Given the description of an element on the screen output the (x, y) to click on. 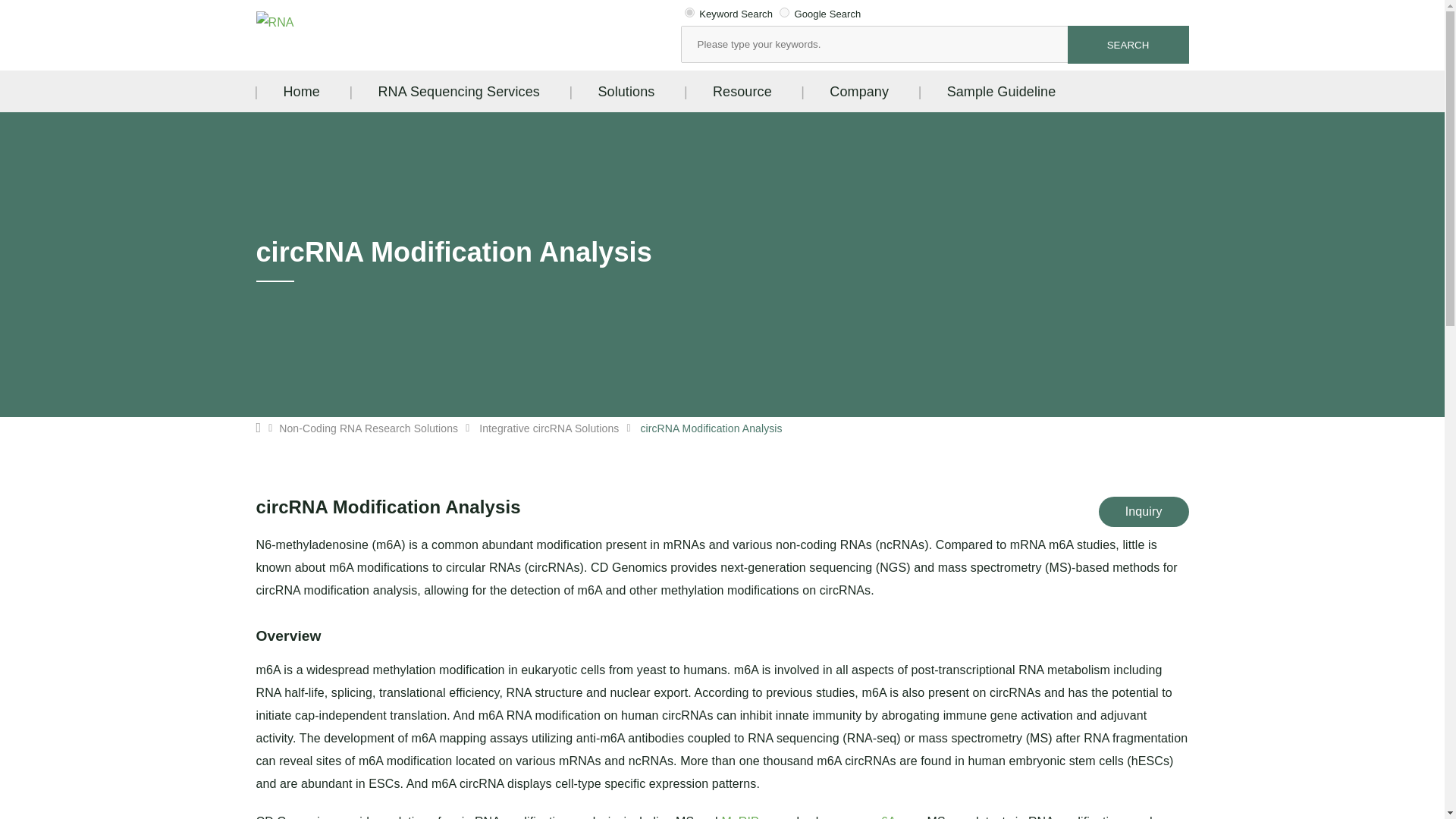
Home (301, 91)
2 (783, 12)
RNA Sequencing Services (458, 91)
1 (689, 12)
SEARCH (1128, 44)
